Given the description of an element on the screen output the (x, y) to click on. 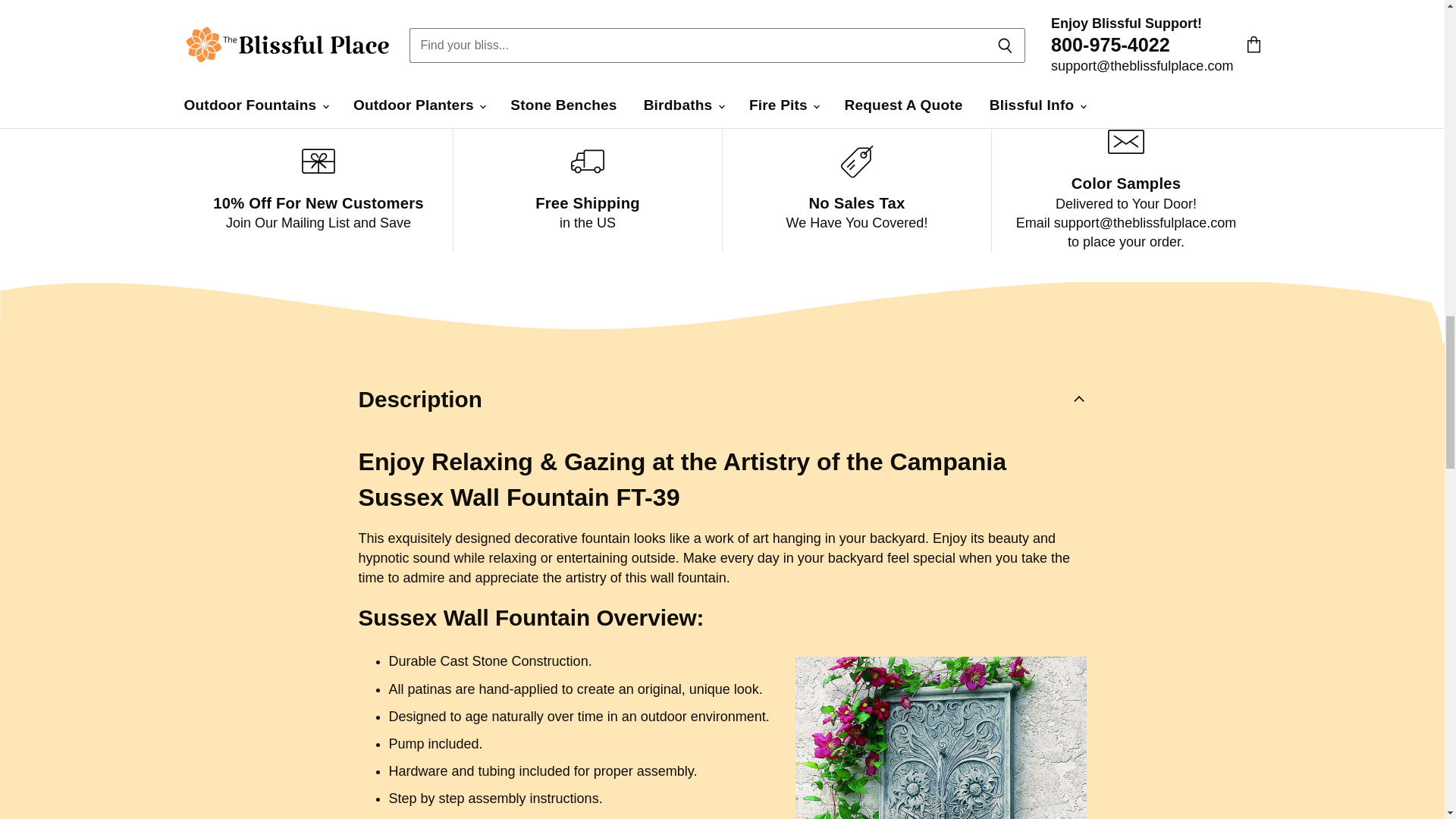
Envelope icon (1126, 141)
Gift card icon (317, 161)
Label tag icon (856, 161)
Delivery icon (587, 161)
